Given the description of an element on the screen output the (x, y) to click on. 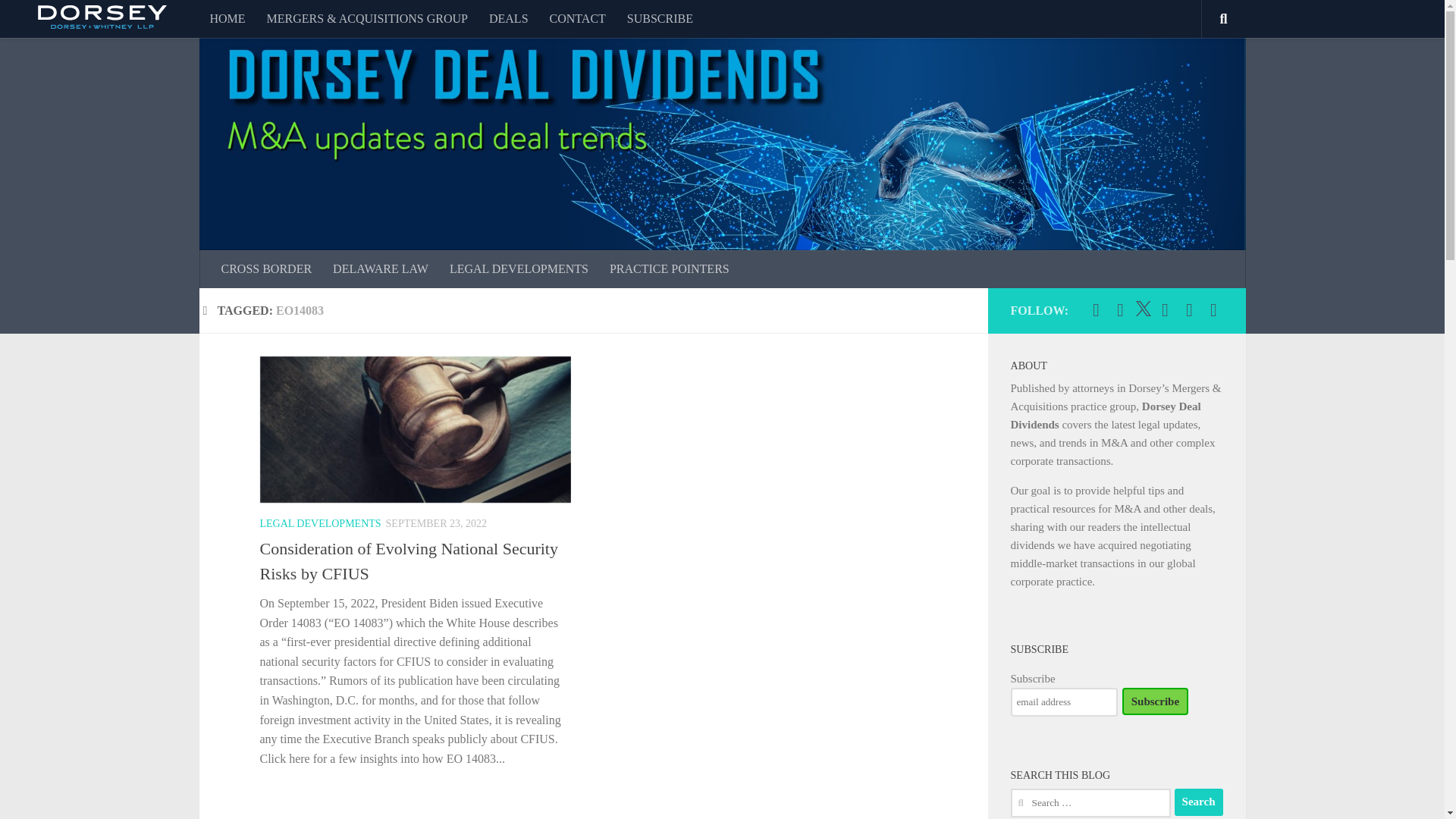
Follow us on Rss (1188, 310)
LEGAL DEVELOPMENTS (518, 269)
CONTACT (576, 18)
Receive updates via email (1213, 310)
Search (1198, 801)
DELAWARE LAW (380, 269)
DEALS (508, 18)
Consideration of Evolving National Security Risks by CFIUS (408, 560)
CROSS BORDER (267, 269)
Subscribe (1155, 700)
Follow us on Linkedin (1120, 310)
PRACTICE POINTERS (668, 269)
Search (1198, 801)
View Dorsey.com (101, 24)
